Given the description of an element on the screen output the (x, y) to click on. 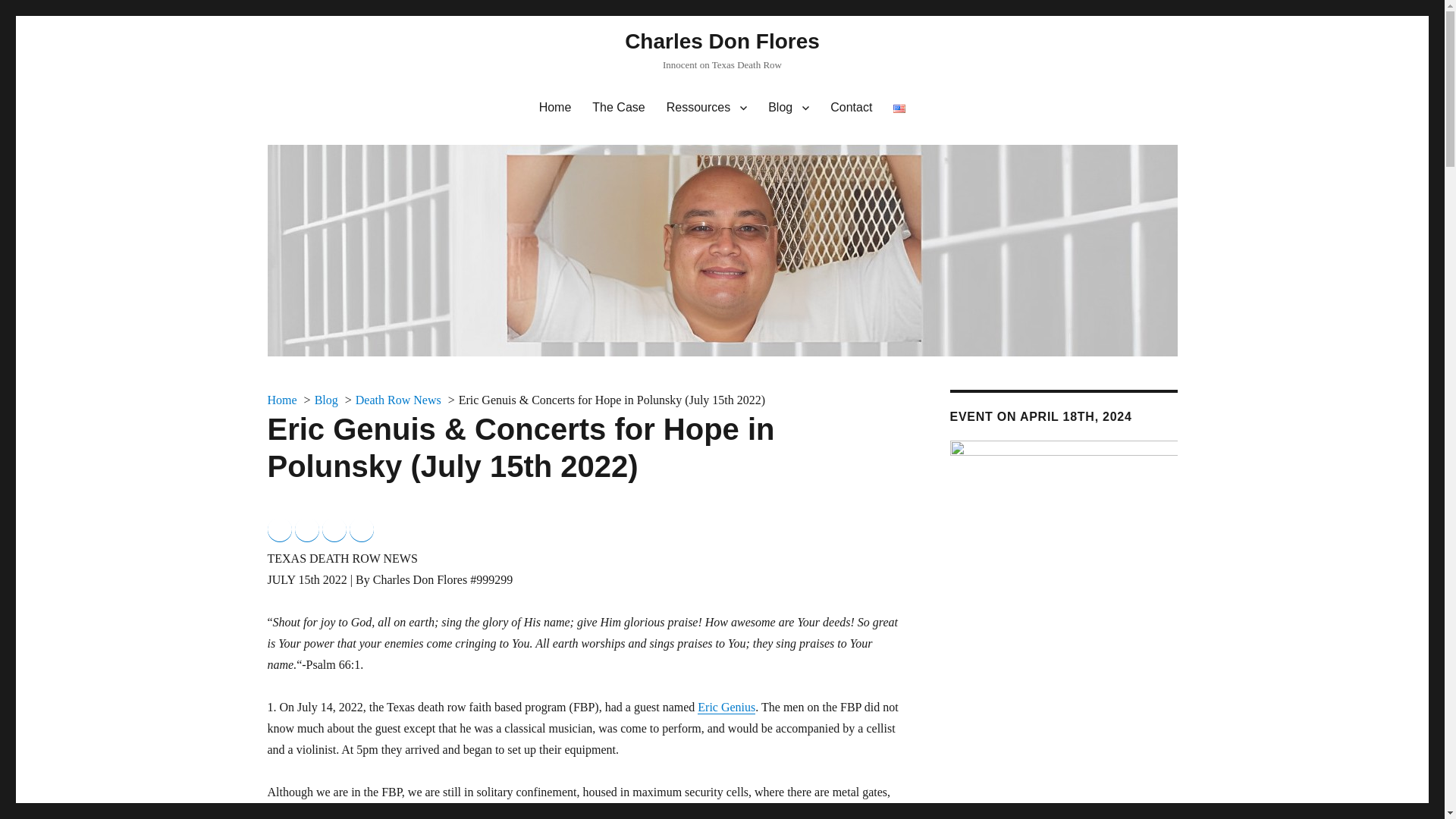
Home (281, 399)
Death Row News (398, 399)
Contact (850, 107)
The Case (617, 107)
Email this article (360, 528)
Share to Twitter (306, 528)
Share to LinkedIn (333, 528)
Charles Don Flores (721, 41)
Blog (788, 107)
Share to Facebook (278, 528)
Home (555, 107)
Blog (325, 399)
Eric Genius (726, 707)
Ressources (706, 107)
